Given the description of an element on the screen output the (x, y) to click on. 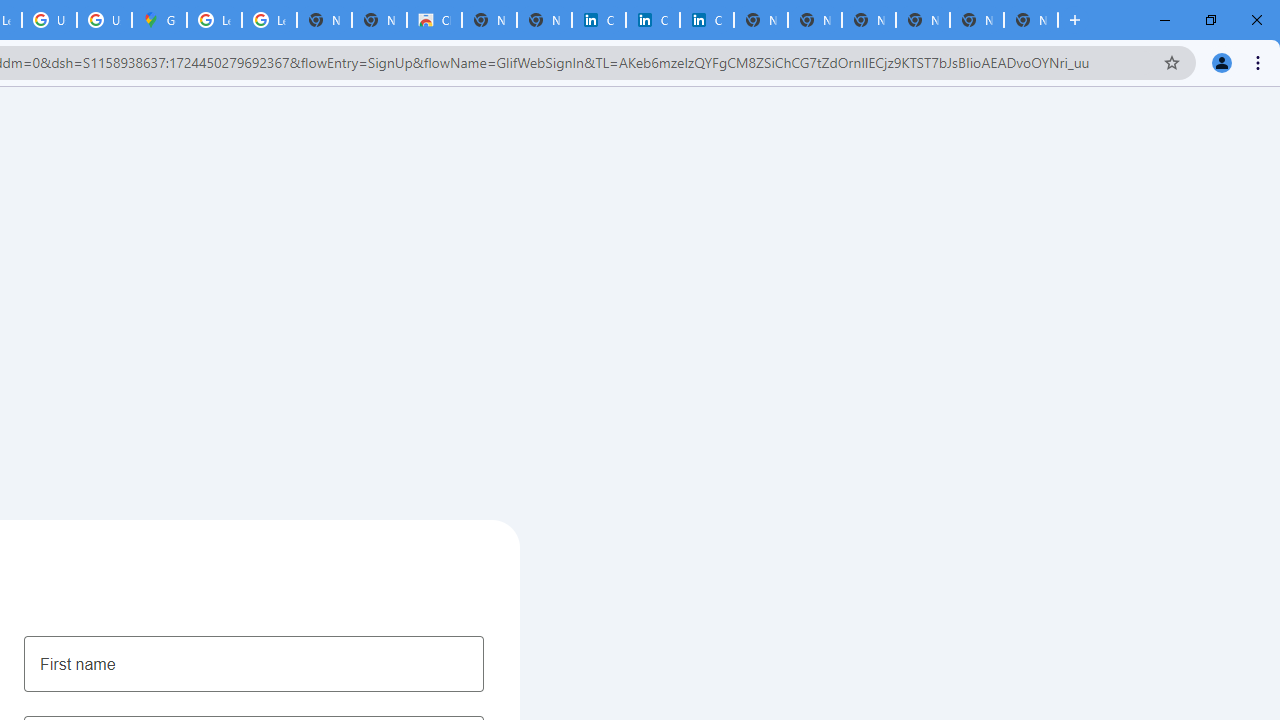
Chrome Web Store (434, 20)
Copyright Policy (706, 20)
First name (253, 663)
Cookie Policy | LinkedIn (652, 20)
New Tab (922, 20)
Google Maps (158, 20)
Cookie Policy | LinkedIn (598, 20)
